Given the description of an element on the screen output the (x, y) to click on. 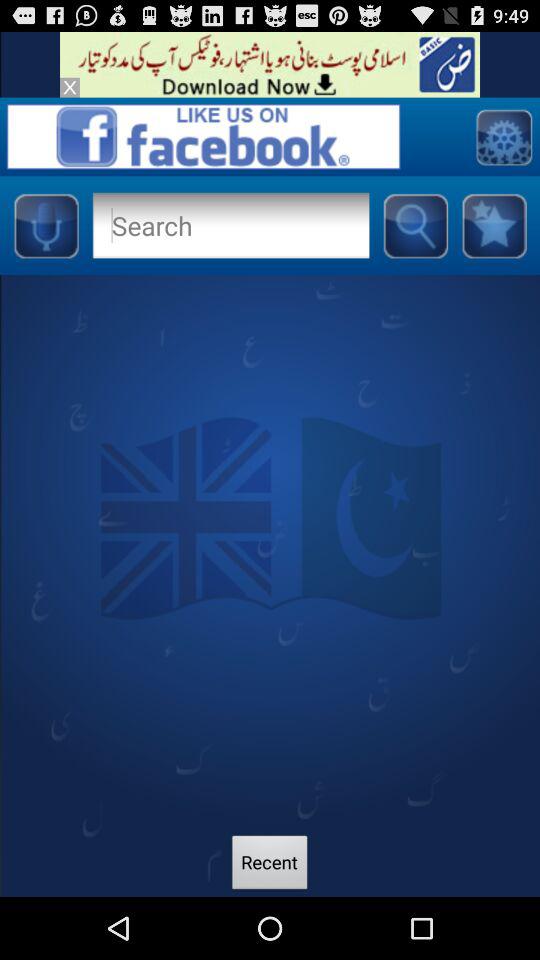
search (230, 225)
